Given the description of an element on the screen output the (x, y) to click on. 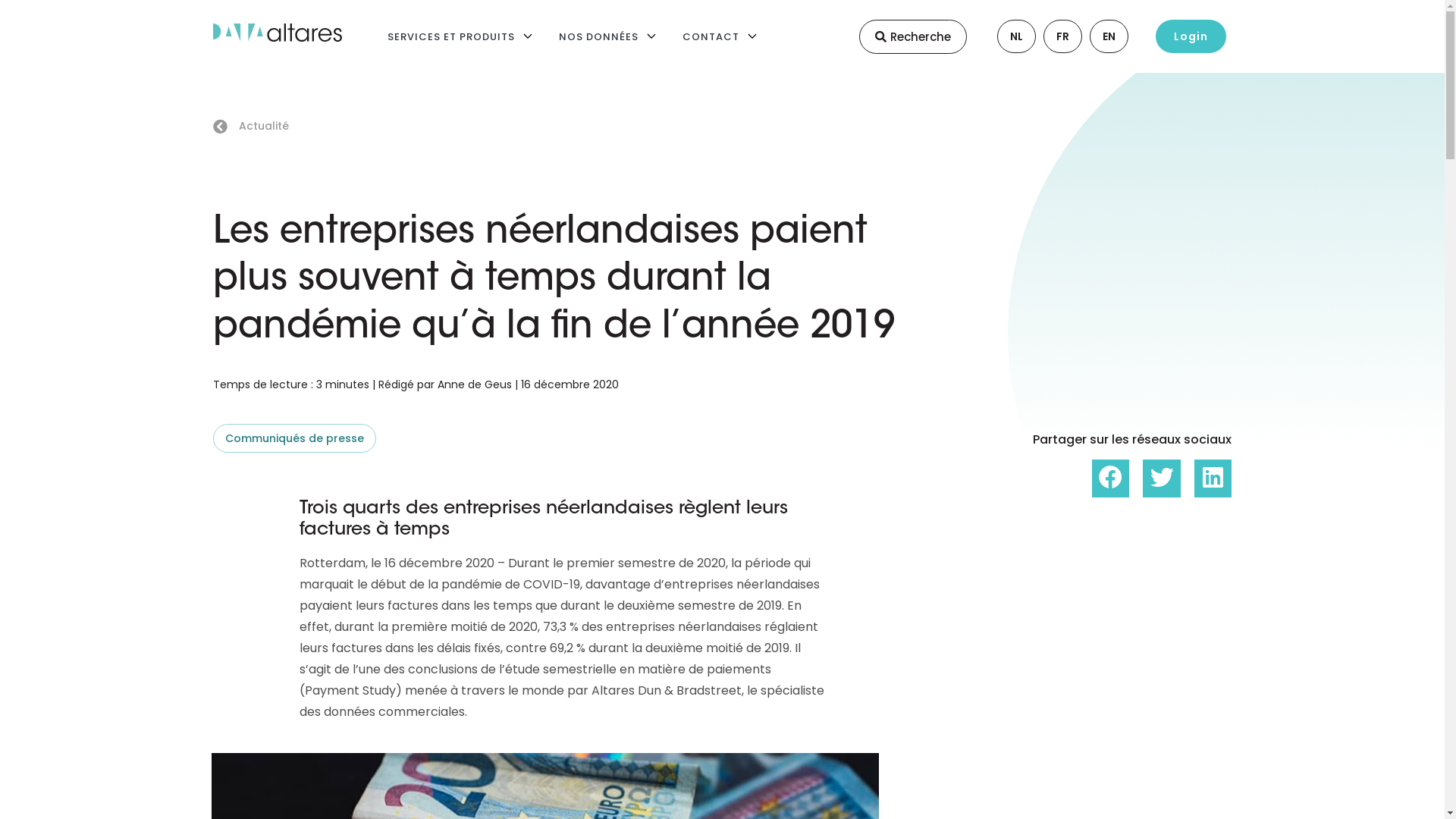
SERVICES ET PRODUITS Element type: text (450, 36)
NL Element type: text (1004, 35)
Recherche Element type: text (912, 36)
CONTACT Element type: text (710, 36)
FR Element type: text (1051, 35)
EN Element type: text (1096, 35)
Login Element type: text (1190, 36)
